Given the description of an element on the screen output the (x, y) to click on. 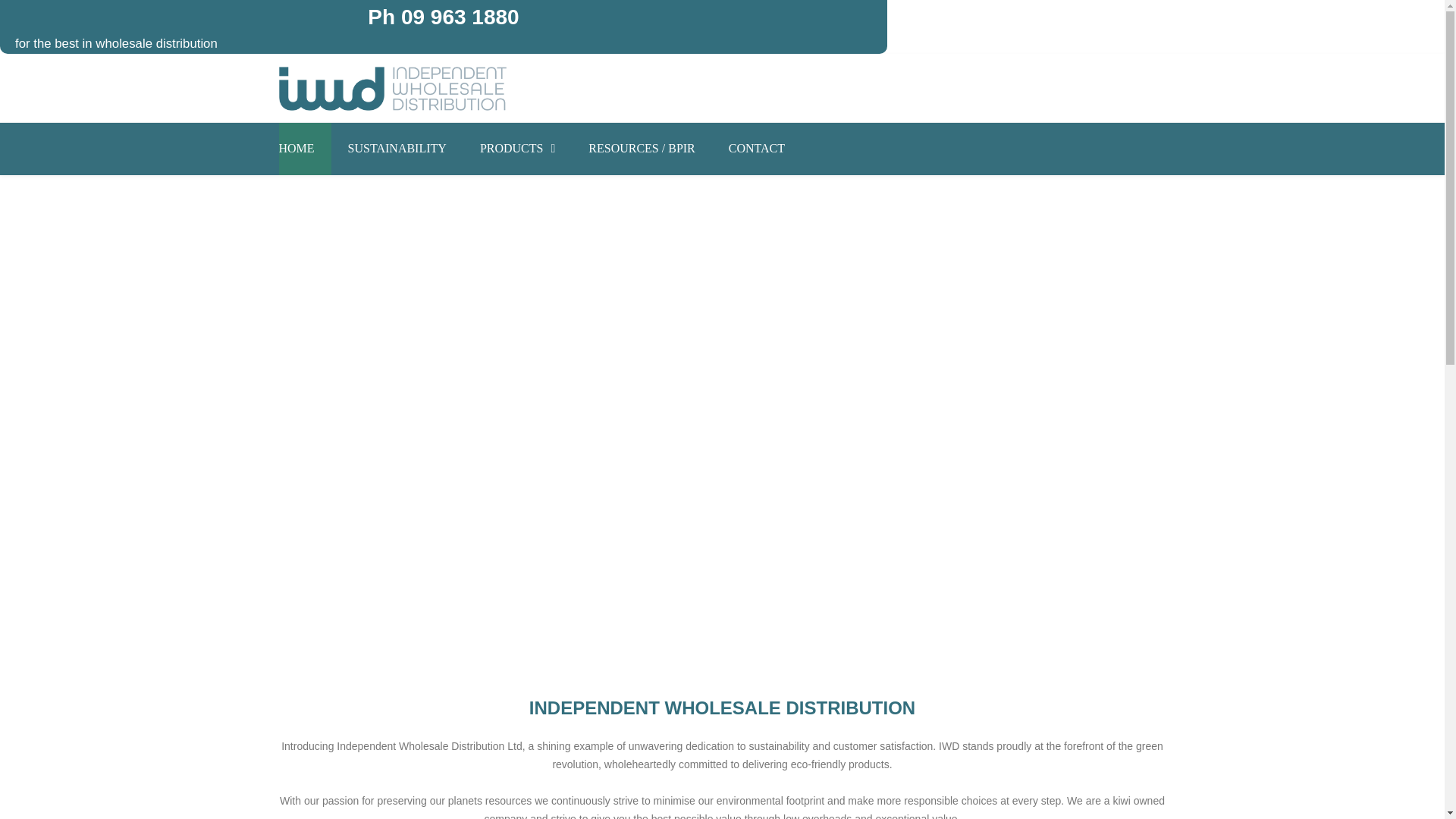
CONTACT (756, 148)
PRODUCTS (517, 148)
SUSTAINABILITY (397, 148)
Ph 09 963 1880 (443, 16)
HOME (305, 148)
Independent Wholesale Distribution (392, 88)
